Given the description of an element on the screen output the (x, y) to click on. 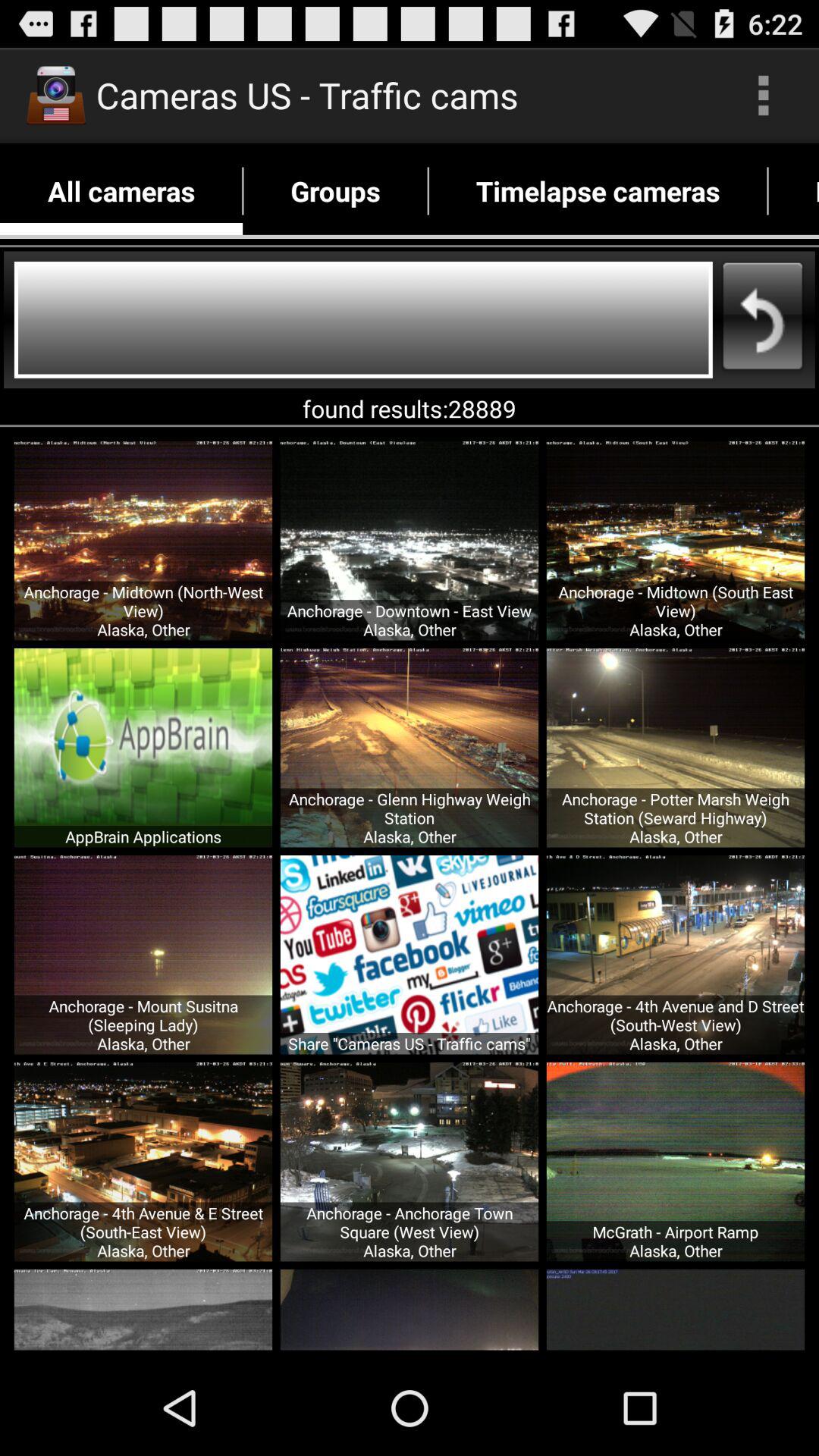
launch item above the timelapse cameras app (763, 95)
